Given the description of an element on the screen output the (x, y) to click on. 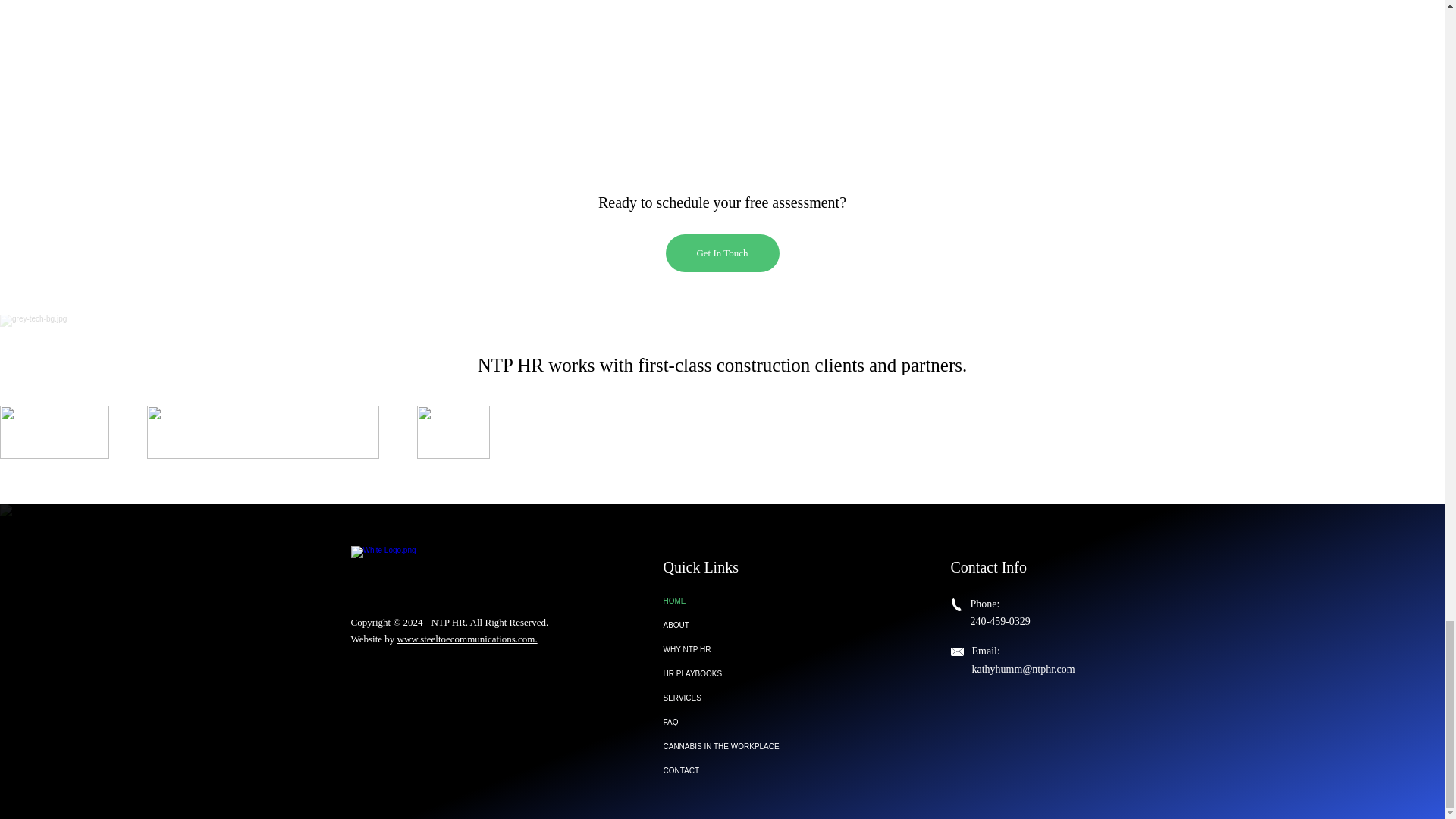
Get In Touch (721, 252)
CONTACT (742, 770)
HOME (742, 600)
240-459-0329 (1000, 621)
www.steeltoecommunications.com. (467, 638)
SERVICES (742, 698)
WHY NTP HR (742, 649)
CANNABIS IN THE WORKPLACE (742, 746)
ABOUT (742, 625)
HR PLAYBOOKS (742, 673)
